Given the description of an element on the screen output the (x, y) to click on. 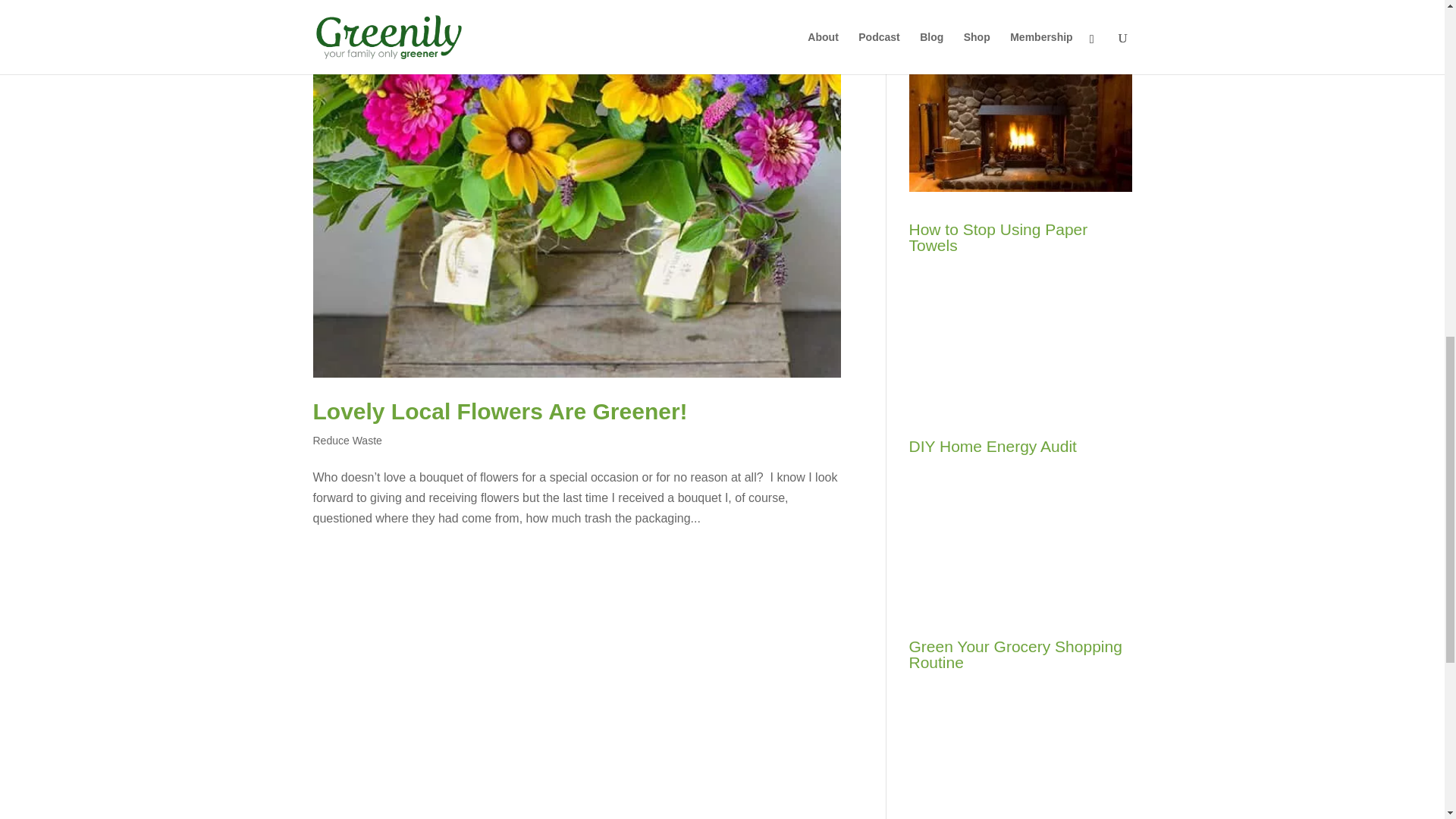
Lovely Local Flowers Are Greener! (500, 411)
Reduce Waste (347, 440)
